Given the description of an element on the screen output the (x, y) to click on. 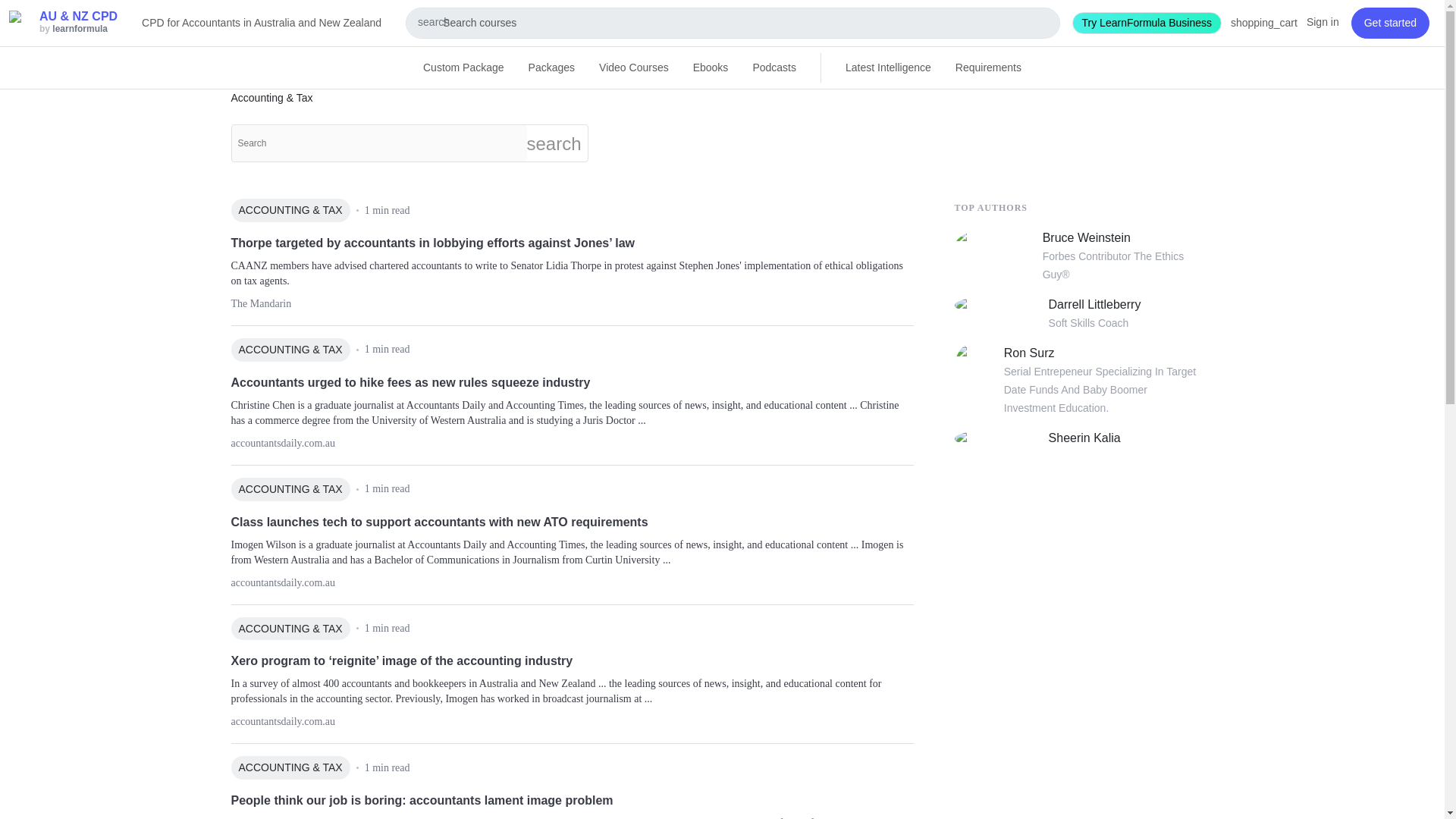
Latest Intelligence (887, 67)
Custom Package (463, 67)
Requirements (988, 67)
Accountants urged to hike fees as new rules squeeze industry (571, 382)
Podcasts (773, 67)
Try LearnFormula Business (1146, 23)
Packages (551, 67)
Video Courses (633, 67)
Ebooks (711, 67)
Get started (1390, 22)
